Given the description of an element on the screen output the (x, y) to click on. 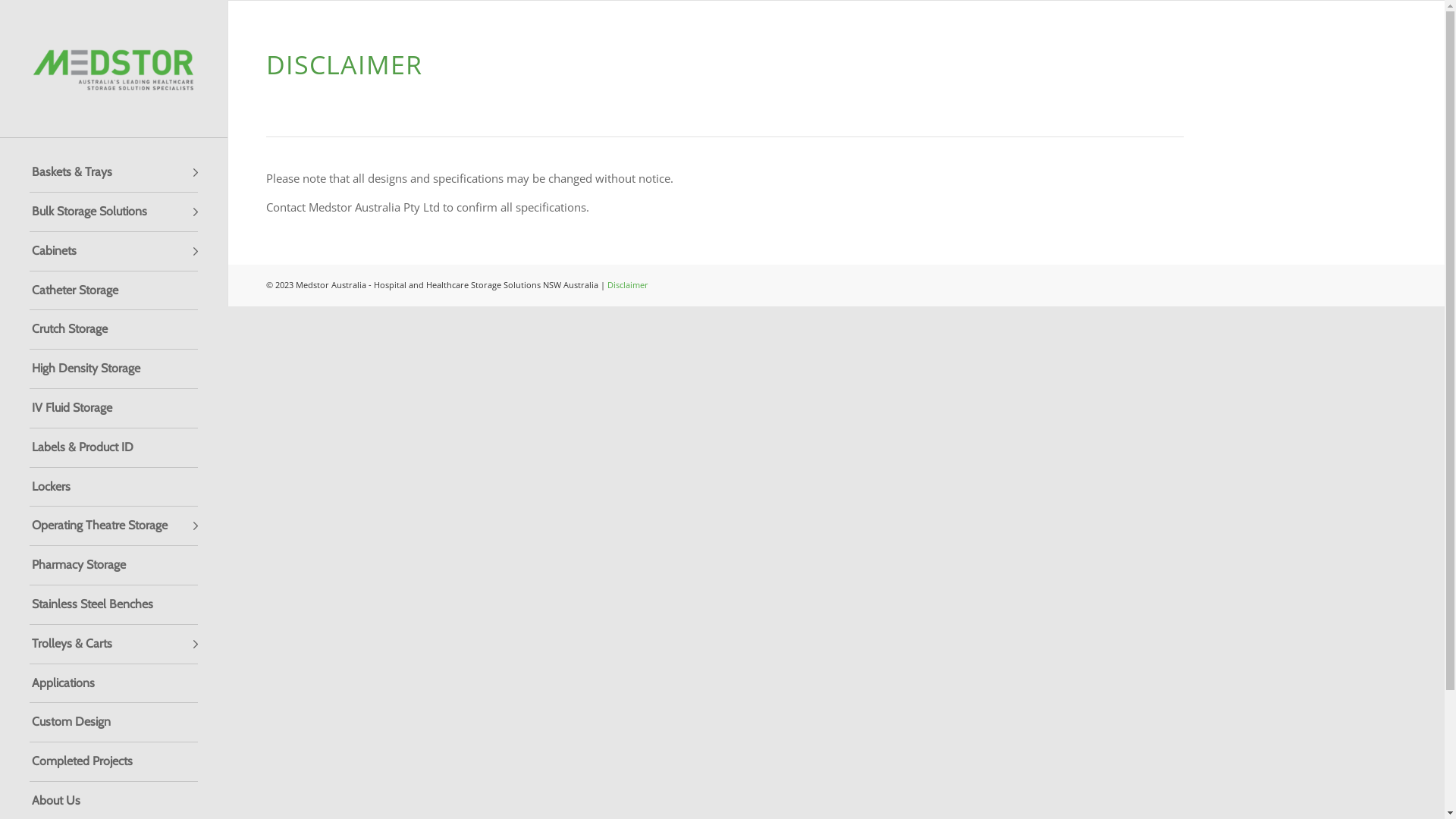
Operating Theatre Storage Element type: text (113, 526)
Applications Element type: text (113, 683)
Custom Design Element type: text (113, 722)
Disclaimer Element type: text (627, 284)
Catheter Storage Element type: text (113, 290)
Labels & Product ID Element type: text (113, 447)
Pharmacy Storage Element type: text (113, 565)
IV Fluid Storage Element type: text (113, 408)
Lockers Element type: text (113, 487)
Completed Projects Element type: text (113, 761)
High Density Storage Element type: text (113, 369)
Baskets & Trays Element type: text (113, 172)
Stainless Steel Benches Element type: text (113, 604)
Trolleys & Carts Element type: text (113, 644)
Cabinets Element type: text (113, 251)
Bulk Storage Solutions Element type: text (113, 212)
Crutch Storage Element type: text (113, 329)
